Given the description of an element on the screen output the (x, y) to click on. 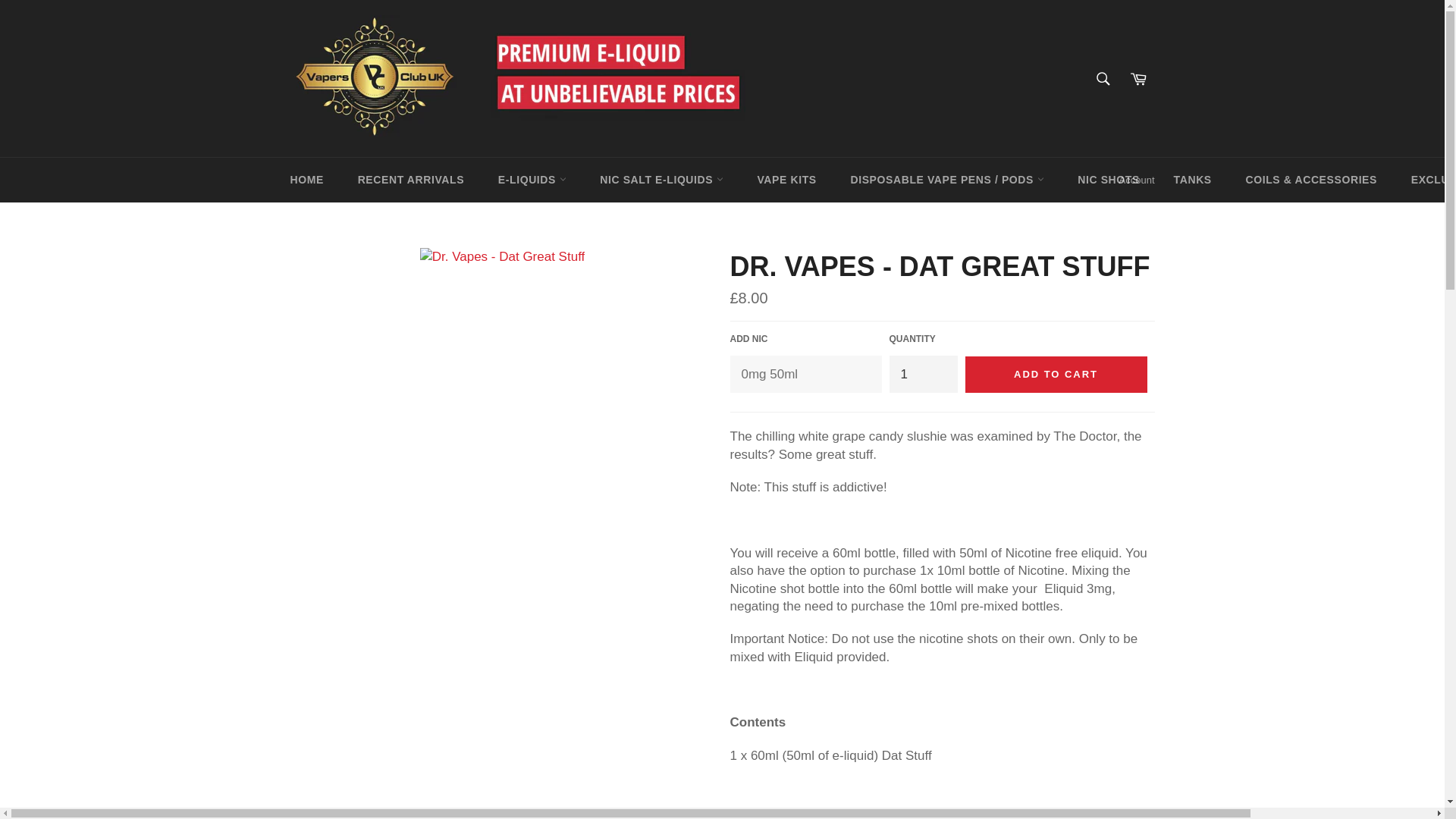
1 (922, 374)
